Given the description of an element on the screen output the (x, y) to click on. 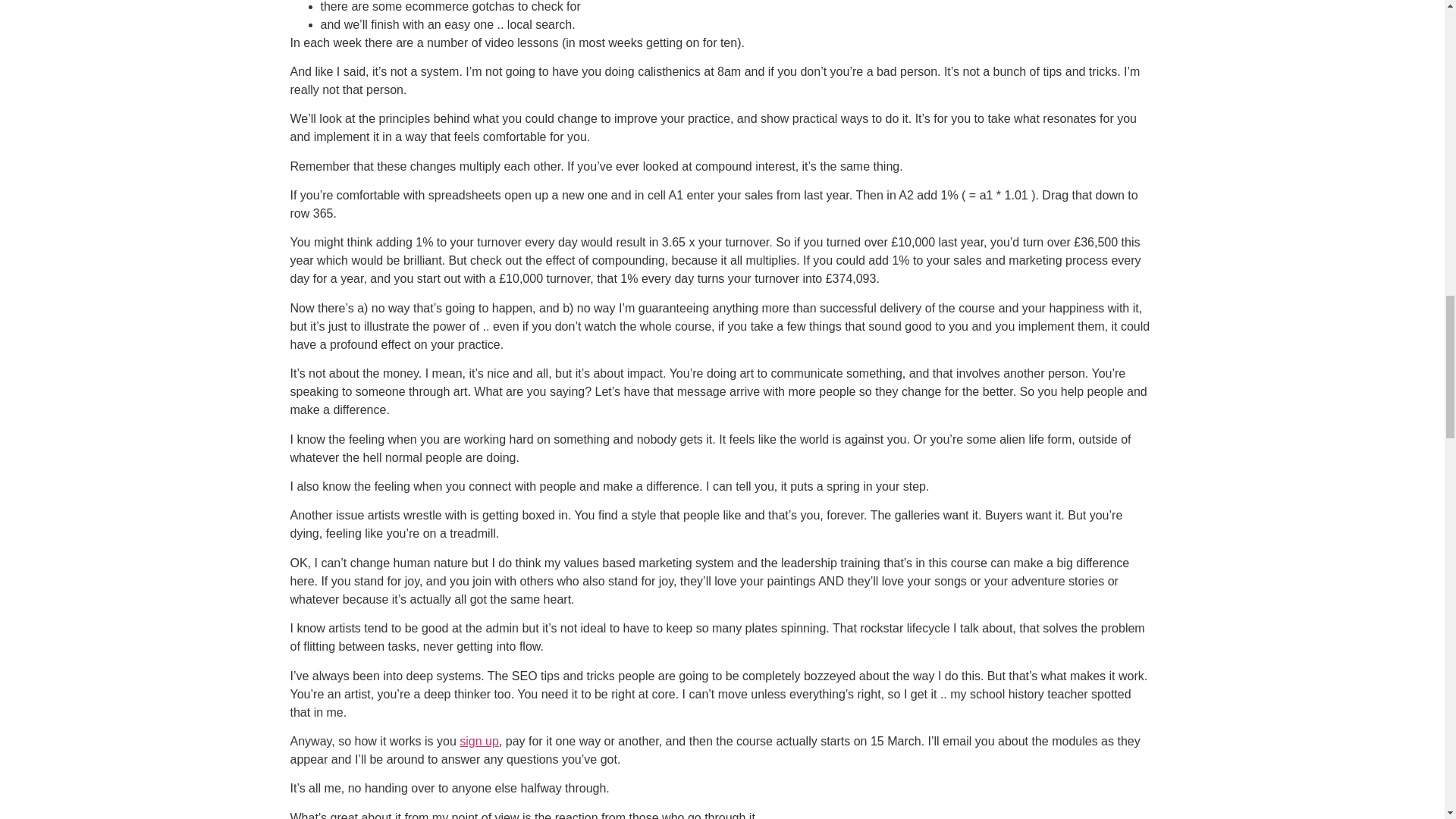
sign up (479, 740)
